Given the description of an element on the screen output the (x, y) to click on. 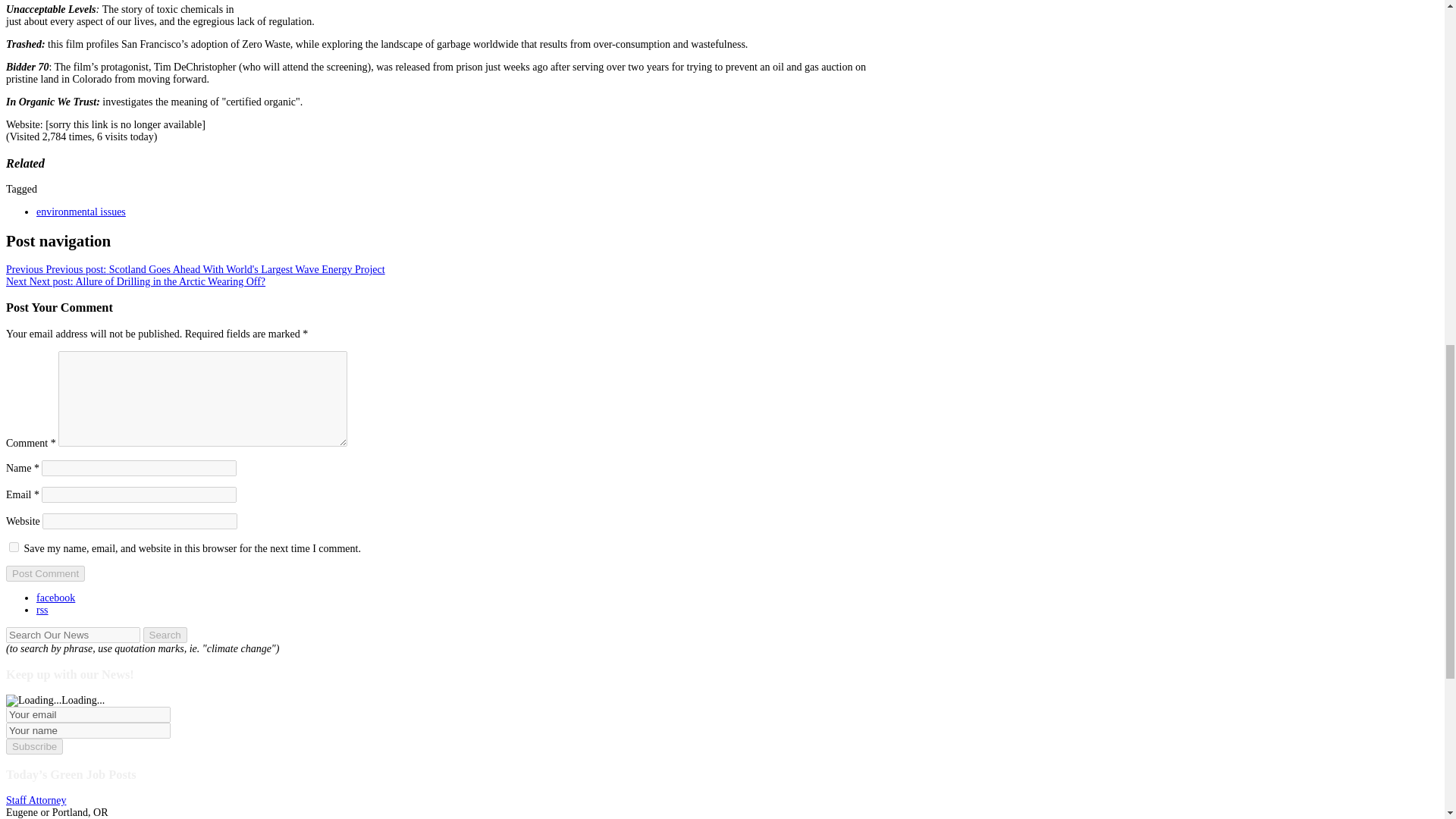
Post Comment (44, 573)
Your name (87, 730)
environmental issues (80, 211)
RSS (42, 609)
Search for: (72, 634)
Post Comment (44, 573)
yes (13, 547)
facebook (55, 597)
Loading... (33, 700)
Facebook (55, 597)
Search (164, 634)
Search (164, 634)
Subscribe (33, 746)
